Given the description of an element on the screen output the (x, y) to click on. 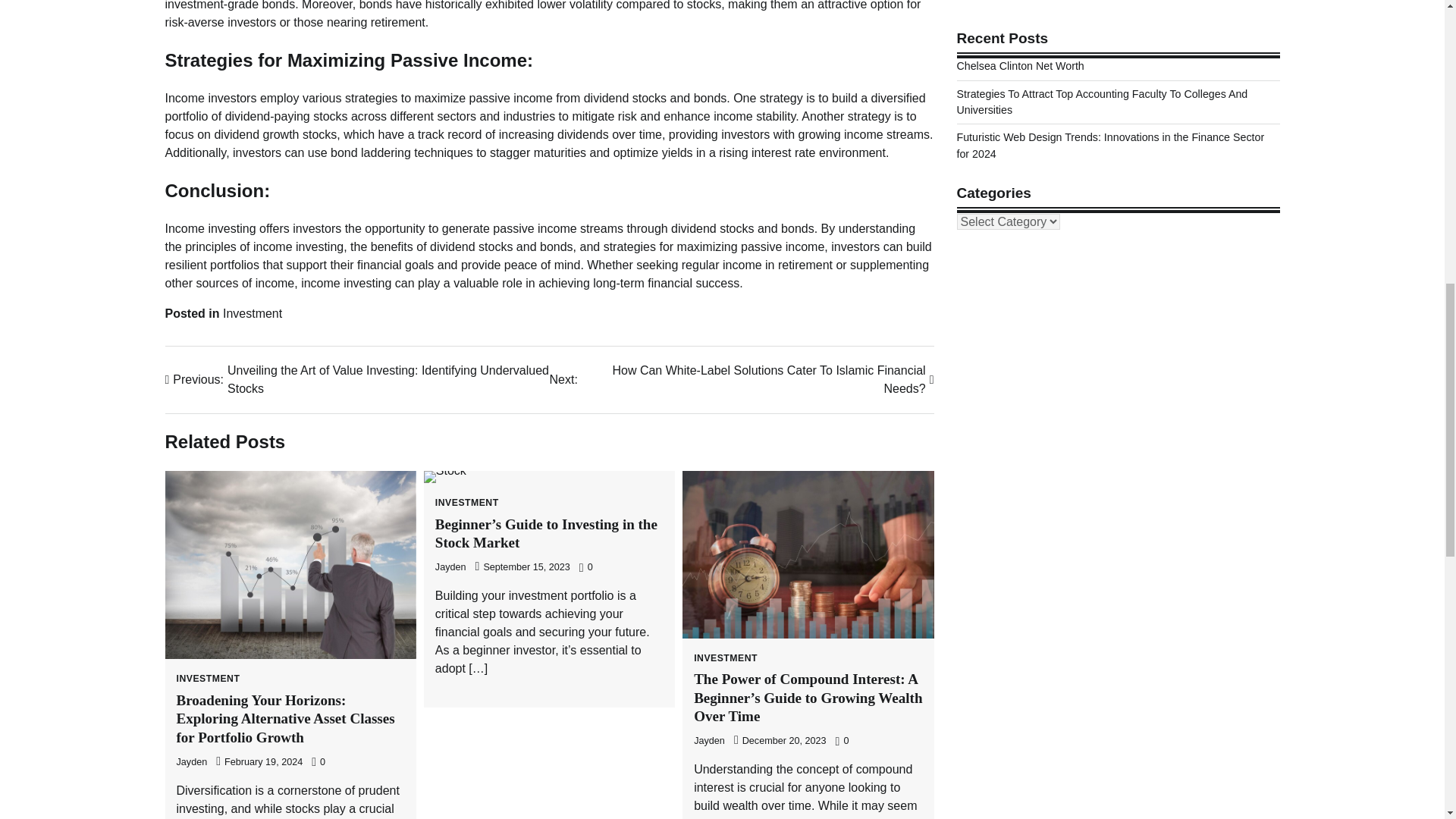
INVESTMENT (467, 501)
Investment (252, 312)
INVESTMENT (725, 657)
Jayden (709, 740)
INVESTMENT (208, 678)
Jayden (191, 761)
Jayden (450, 566)
